Given the description of an element on the screen output the (x, y) to click on. 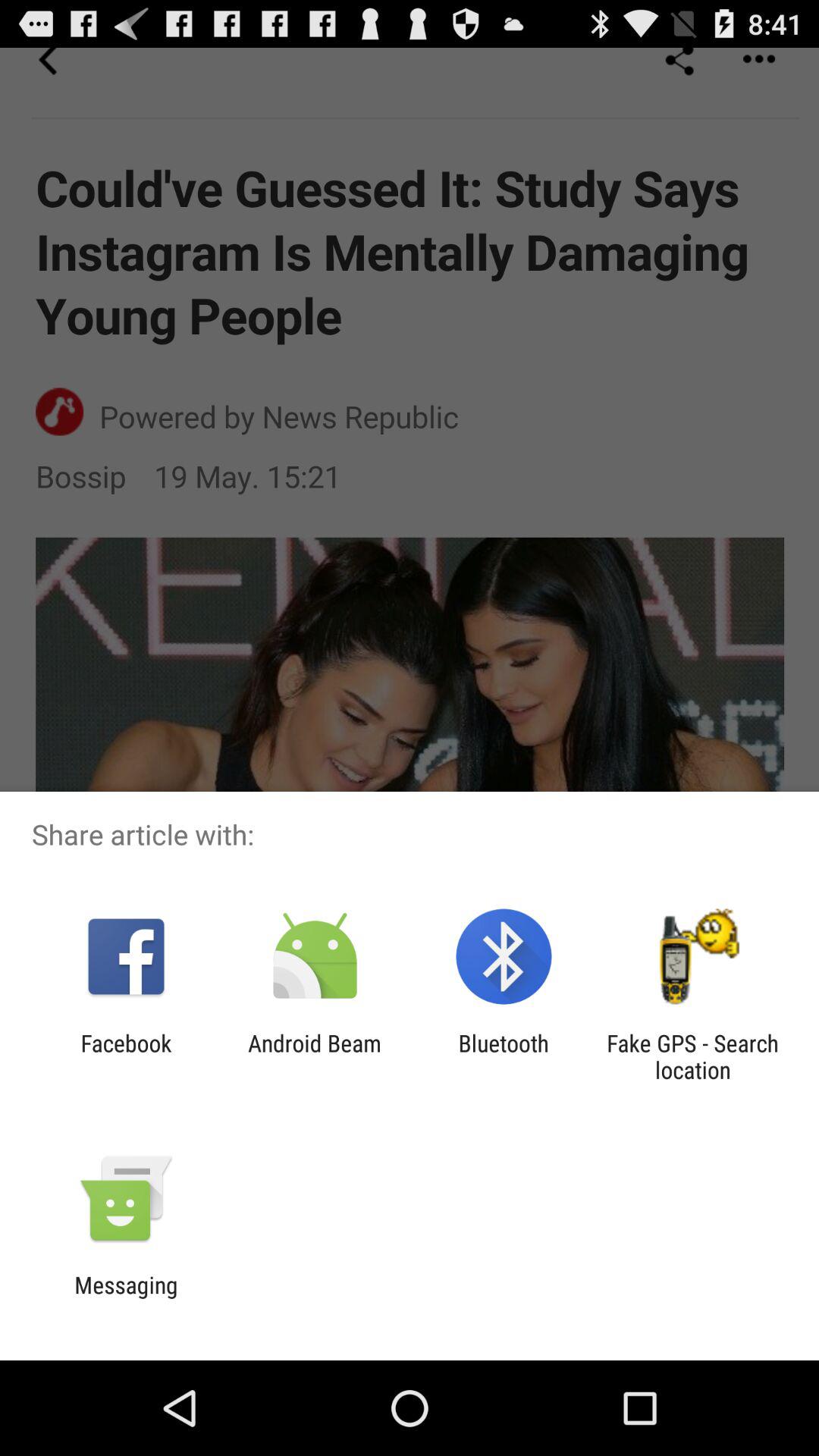
flip until android beam (314, 1056)
